Given the description of an element on the screen output the (x, y) to click on. 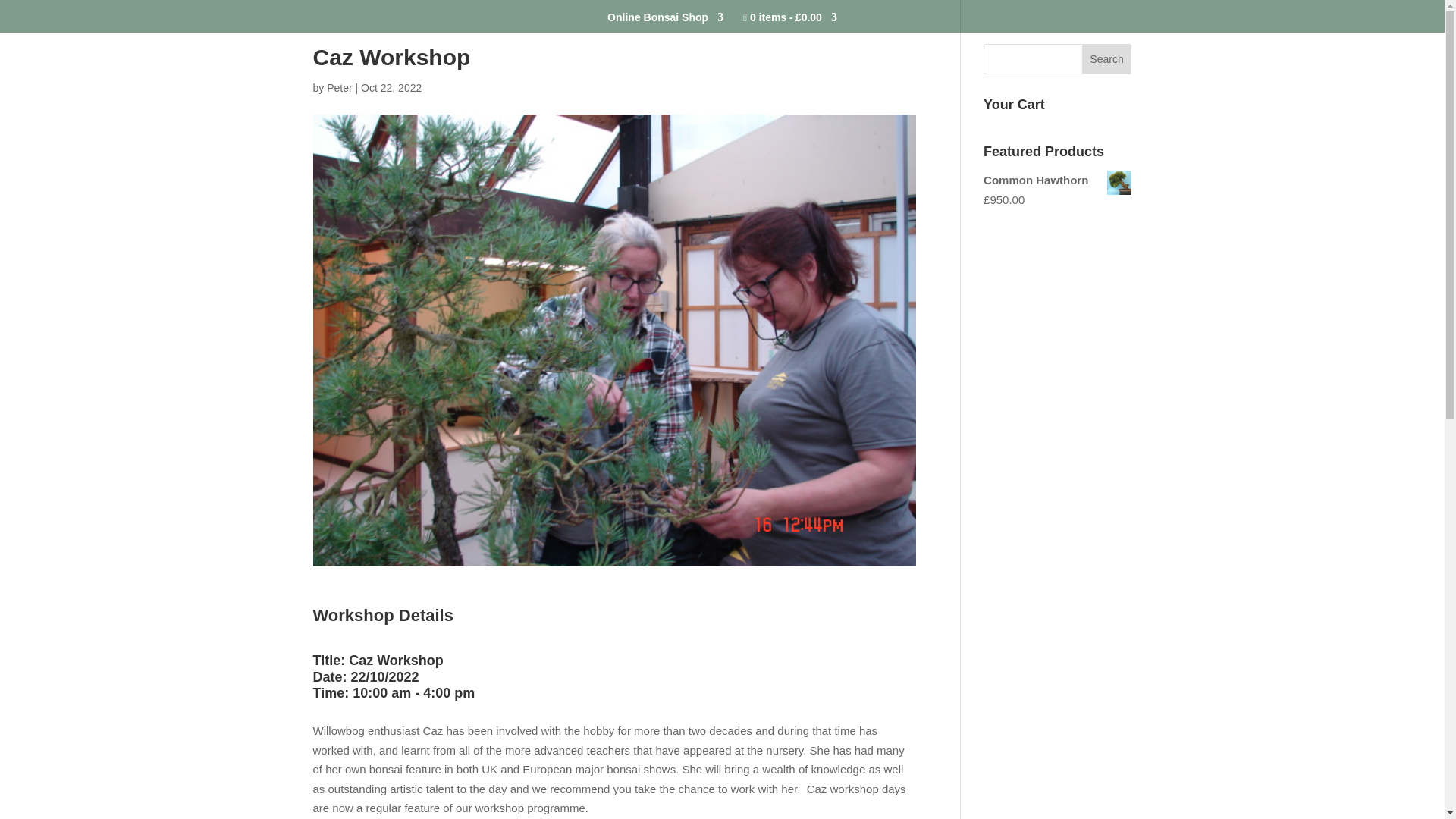
Search (1106, 59)
Posts by Peter (339, 87)
Common Hawthorn (1057, 180)
Search (1106, 59)
Online Bonsai Shop (665, 21)
Start shopping (789, 22)
Peter (339, 87)
